Given the description of an element on the screen output the (x, y) to click on. 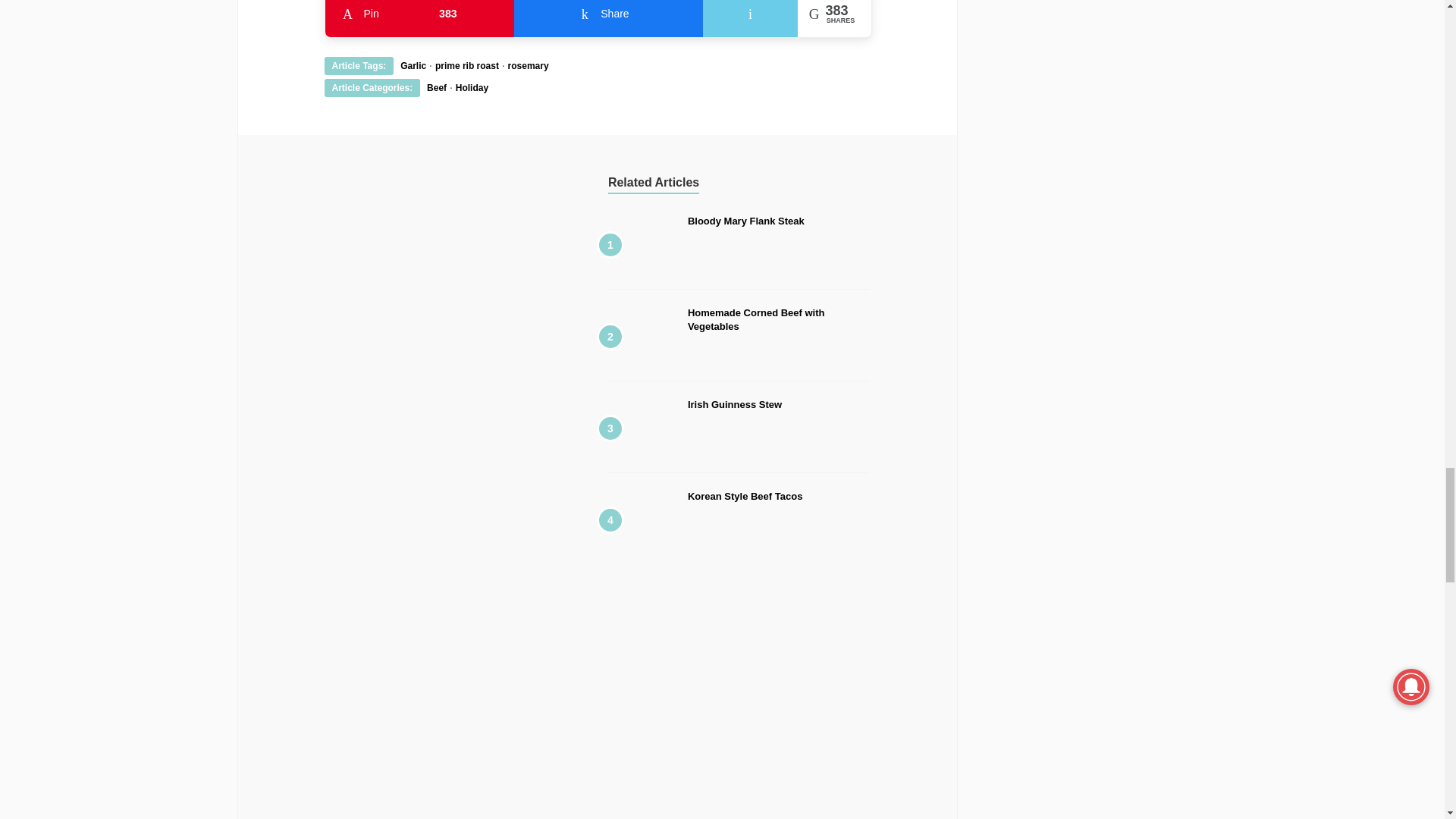
prime rib roast (467, 65)
Irish Guinness Stew (418, 29)
Garlic (734, 404)
Beef (413, 65)
Homemade Corned Beef with Vegetables (436, 87)
Share (756, 319)
Holiday (608, 29)
Bloody Mary Flank Steak (471, 87)
rosemary (746, 220)
